Given the description of an element on the screen output the (x, y) to click on. 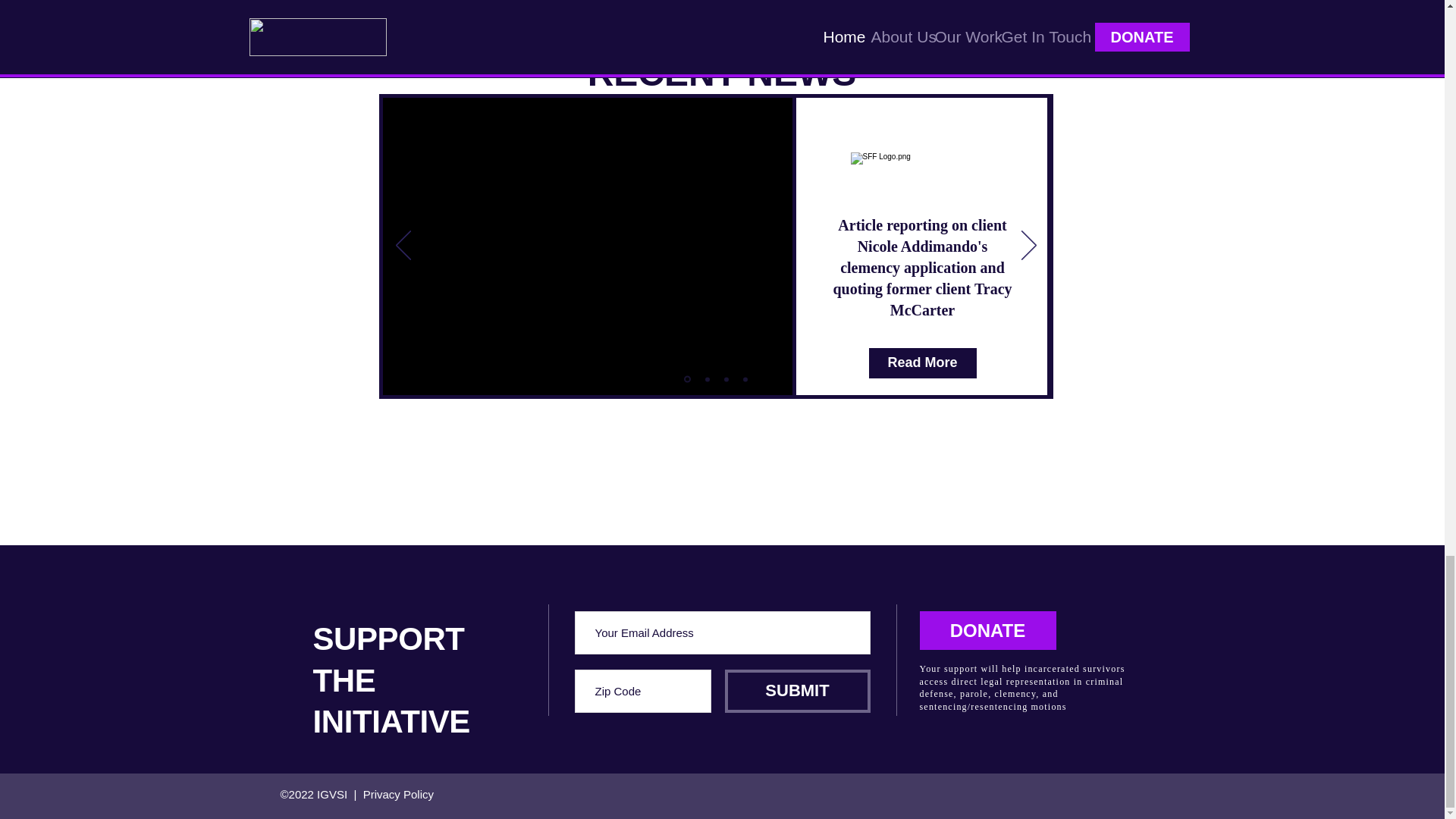
SUBMIT (797, 690)
Read More (922, 363)
Read More (922, 341)
DONATE (986, 630)
